Given the description of an element on the screen output the (x, y) to click on. 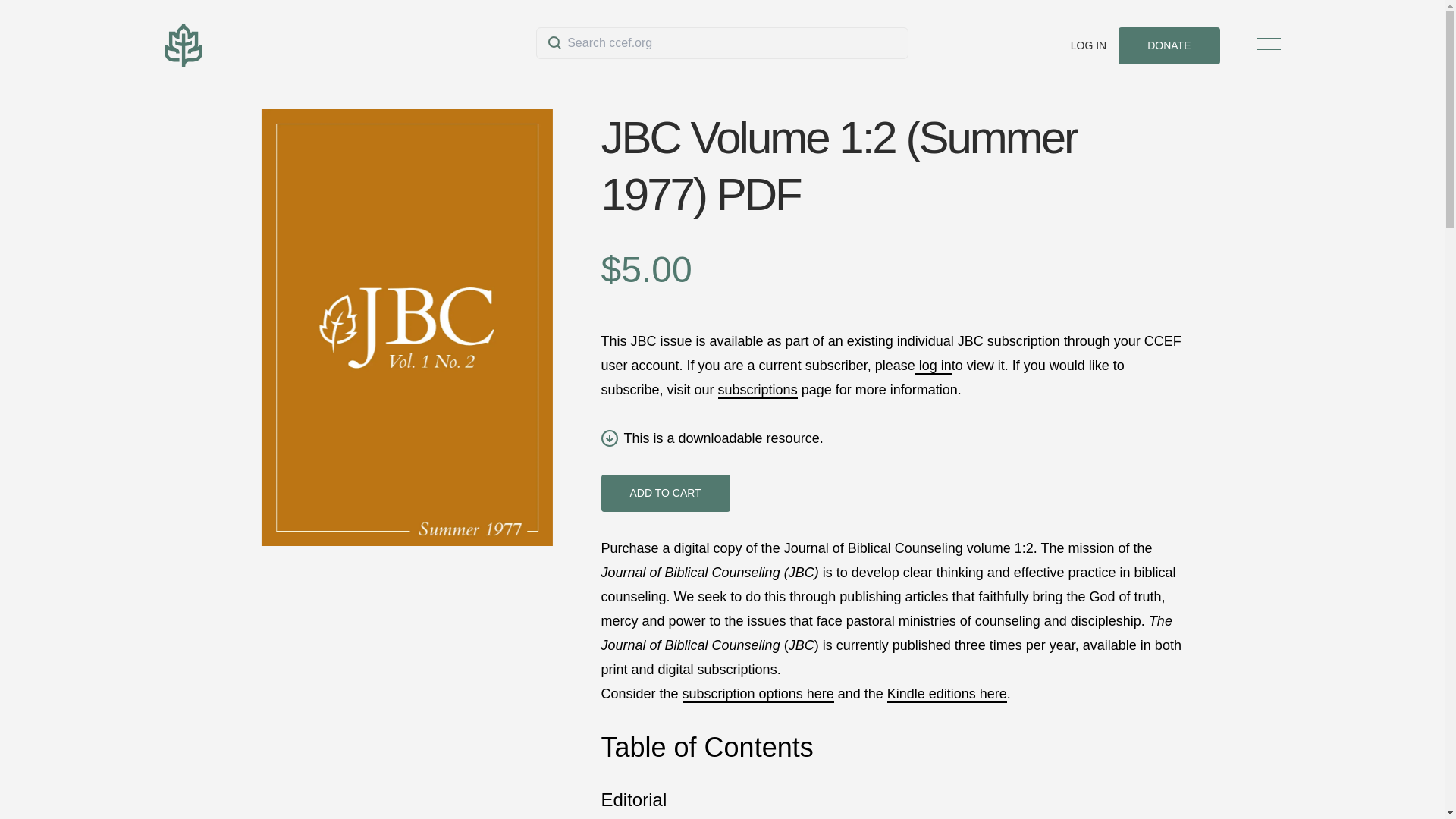
Kindle editions here (946, 694)
log in (933, 365)
subscription options here (758, 694)
DONATE (1169, 45)
ADD TO CART (664, 493)
CCEF Home Link (349, 45)
LOG IN (1088, 45)
subscriptions (757, 390)
